Given the description of an element on the screen output the (x, y) to click on. 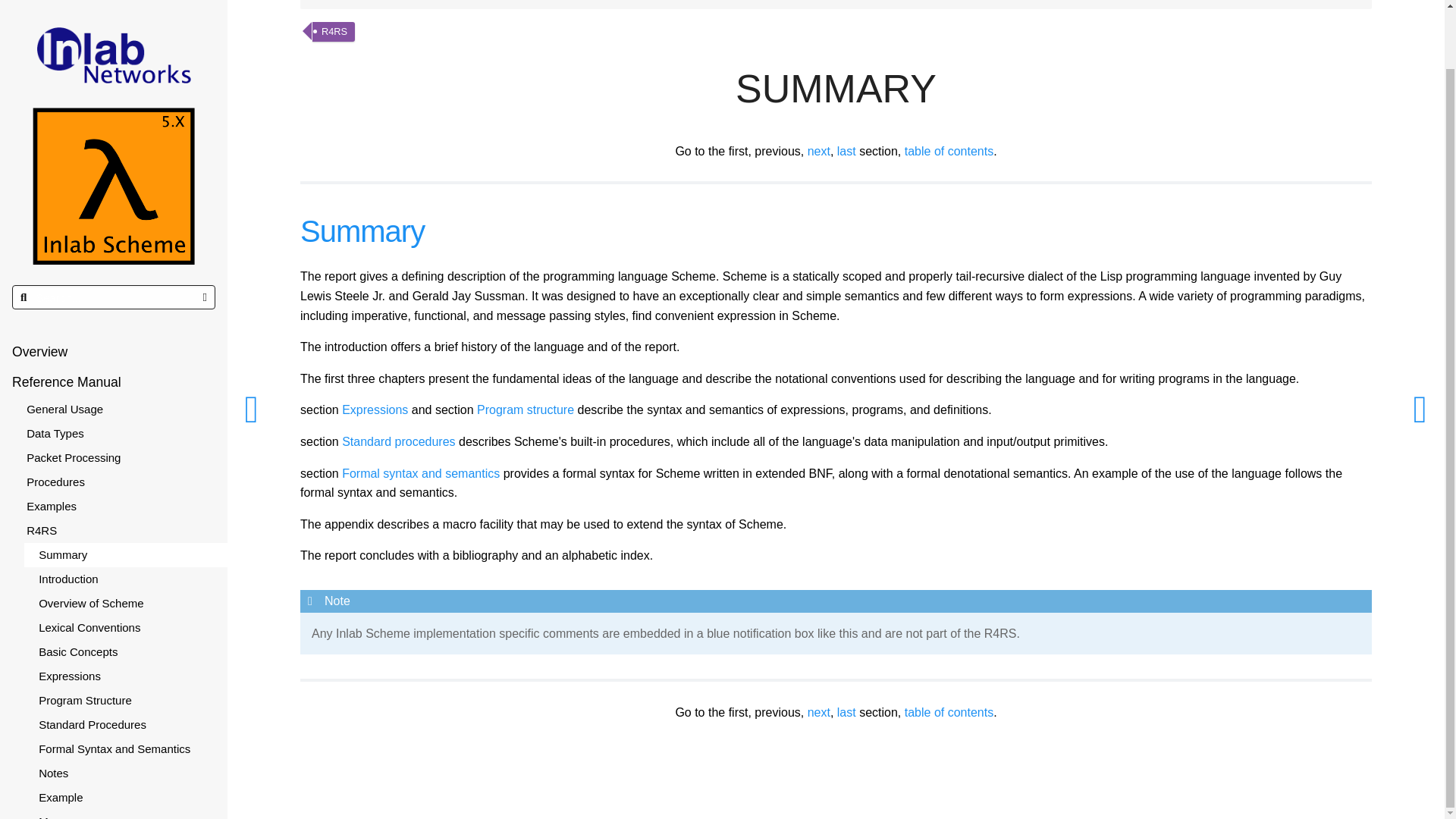
Procedures (113, 418)
Procedures (119, 418)
General Usage (119, 345)
Reference Manual (113, 318)
Packet Processing (113, 394)
Data Types (119, 369)
General Usage (113, 345)
Packet Processing (119, 394)
Overview (113, 287)
Data Types (113, 369)
